Given the description of an element on the screen output the (x, y) to click on. 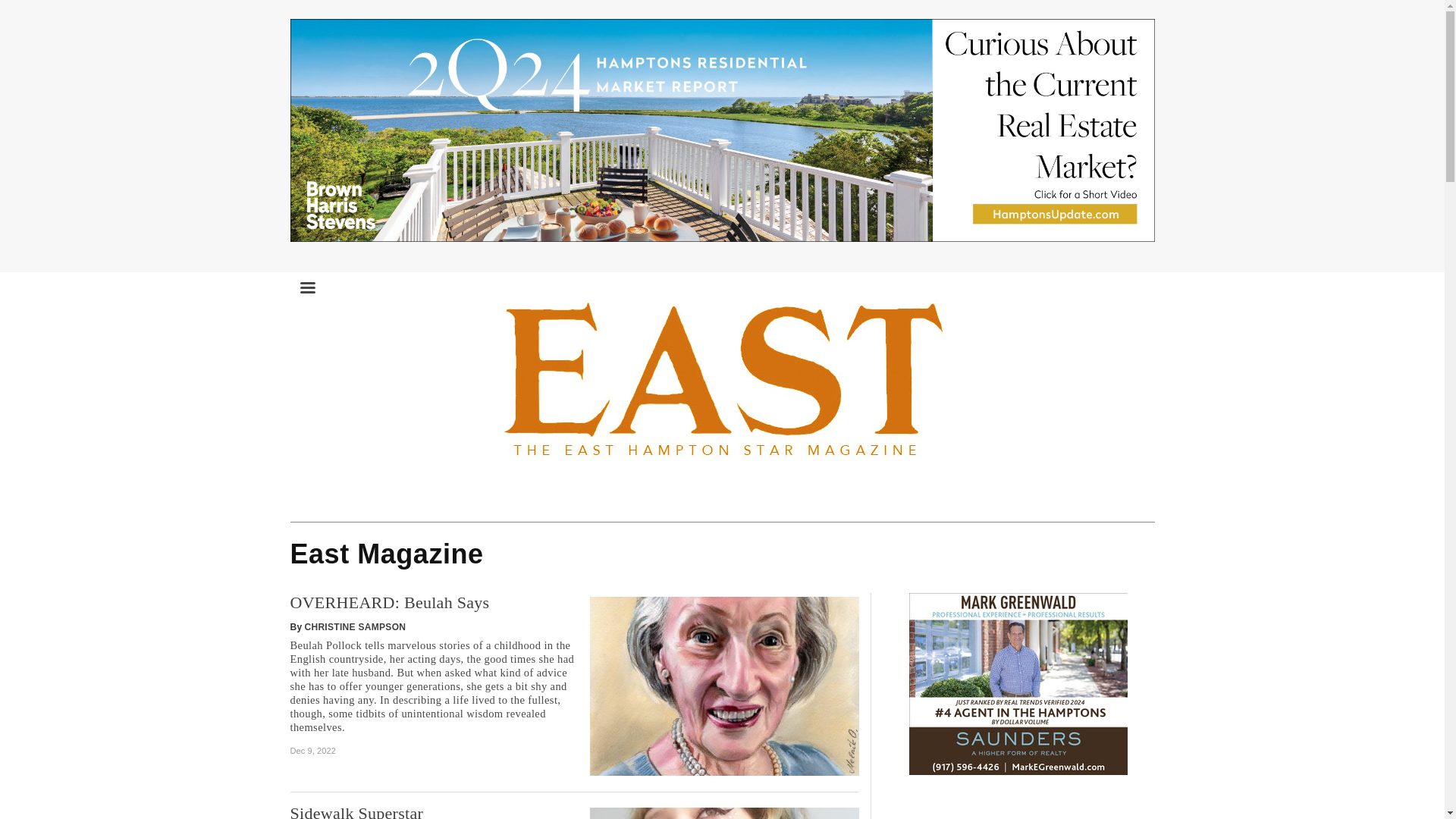
Menu (306, 281)
